Given the description of an element on the screen output the (x, y) to click on. 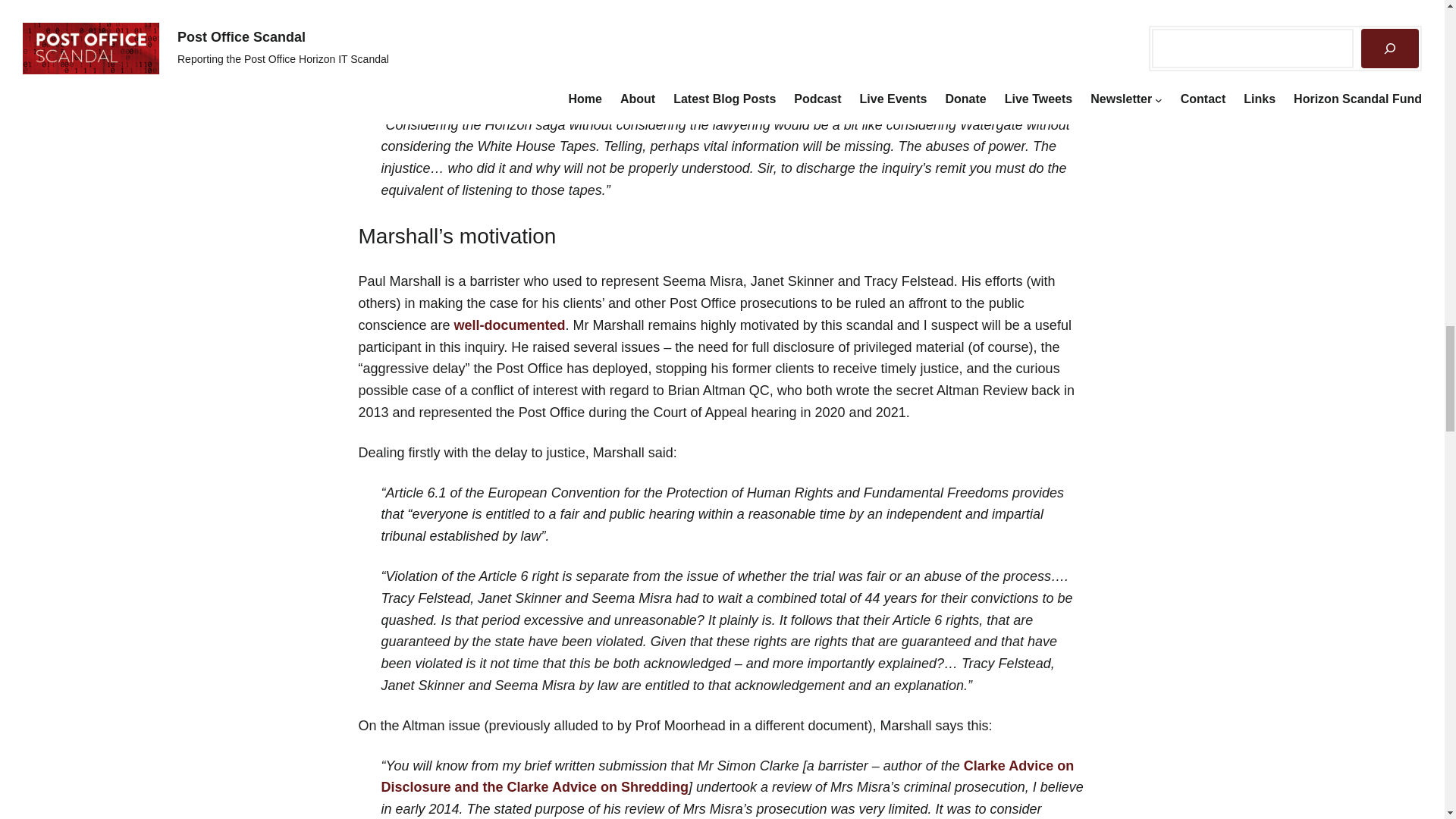
well-documented (510, 324)
